Given the description of an element on the screen output the (x, y) to click on. 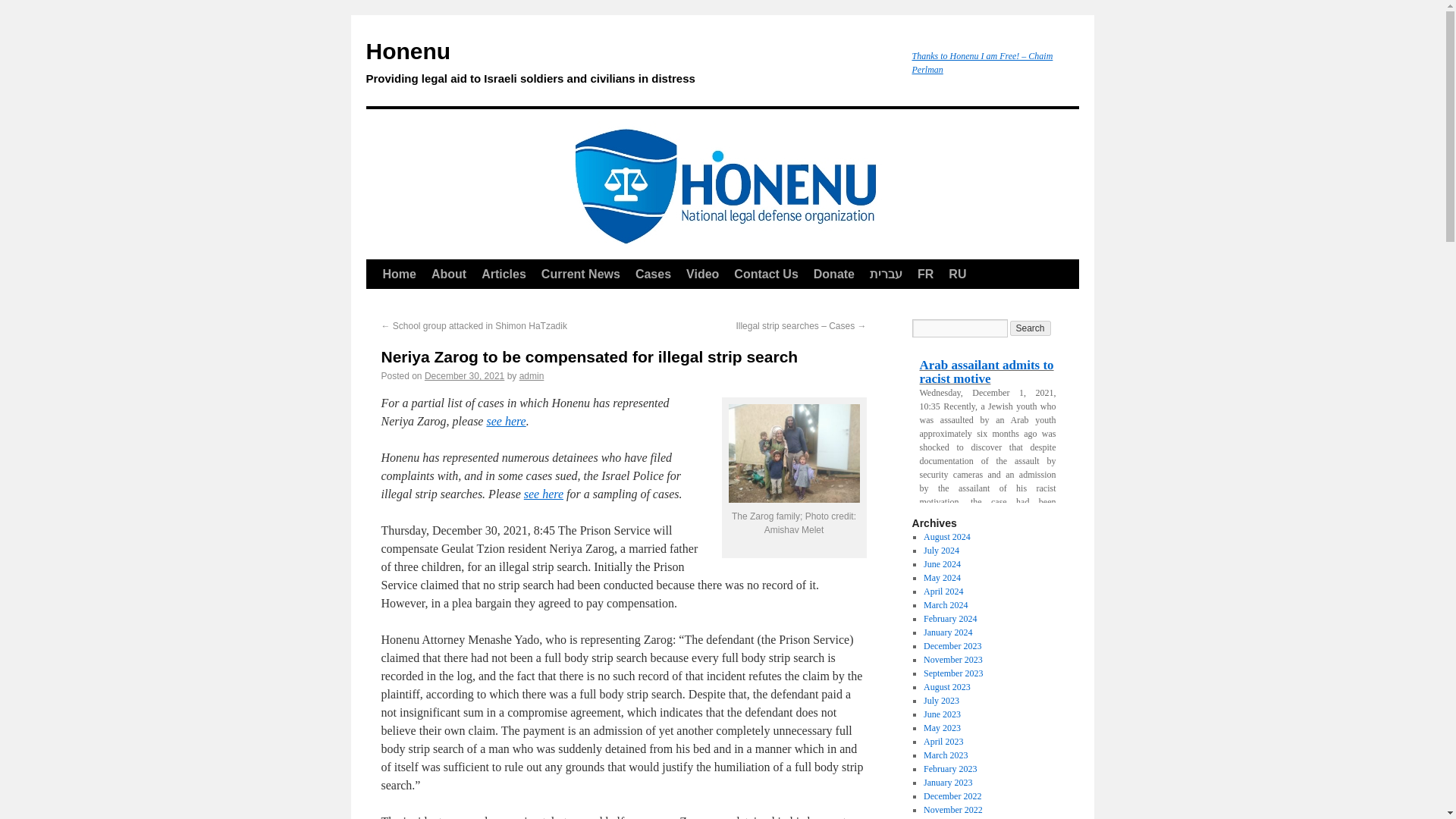
Home (398, 274)
8:45 am (464, 376)
View all posts by admin (531, 376)
Articles (504, 274)
Current News (580, 274)
Search (1030, 328)
About (448, 274)
Cases (652, 274)
Arab assailant admits to racist motive (986, 371)
